Given the description of an element on the screen output the (x, y) to click on. 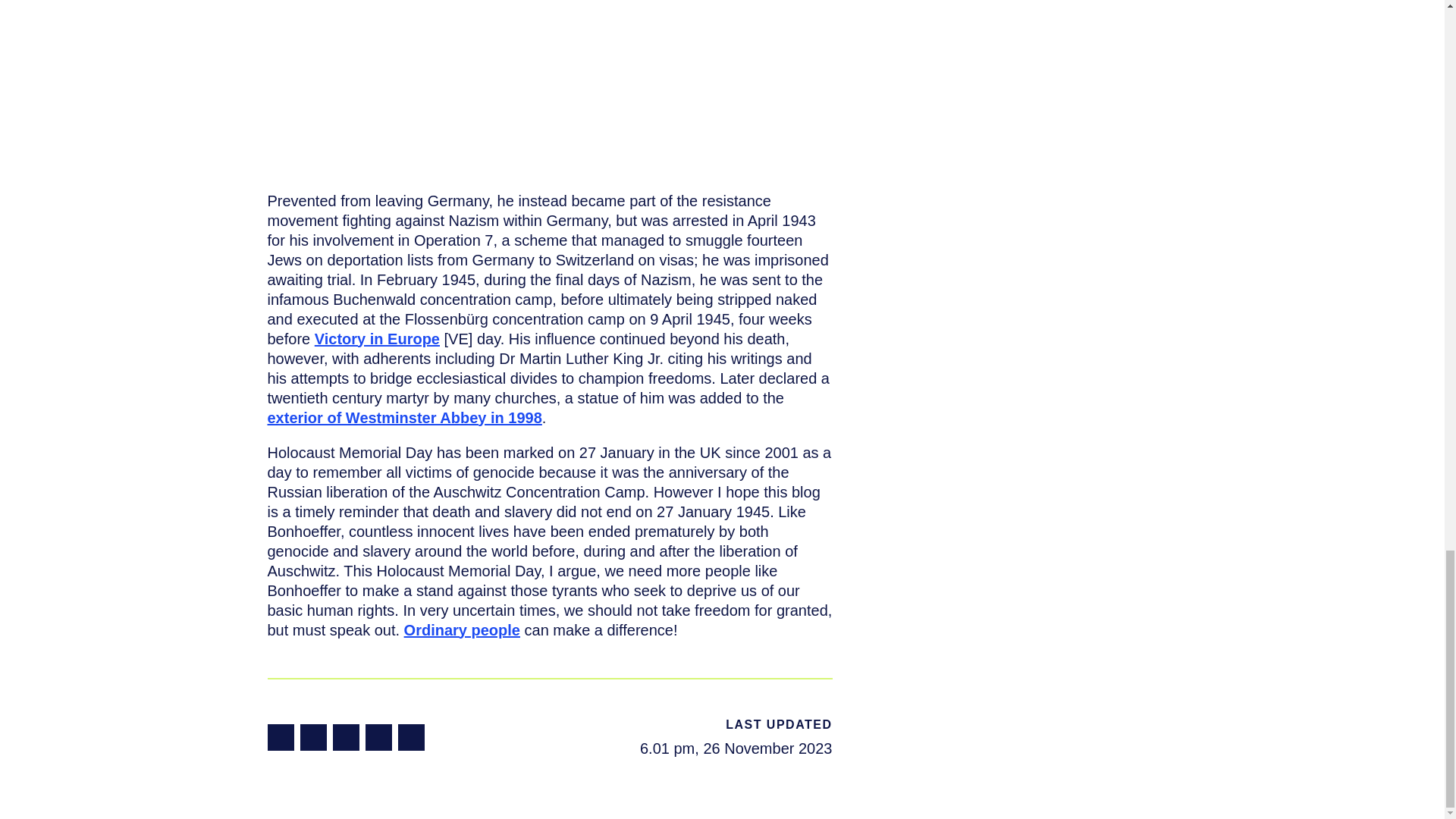
Victory in Europe (376, 338)
Ordinary people (461, 629)
exterior of Westminster Abbey in 1998 (403, 416)
